Given the description of an element on the screen output the (x, y) to click on. 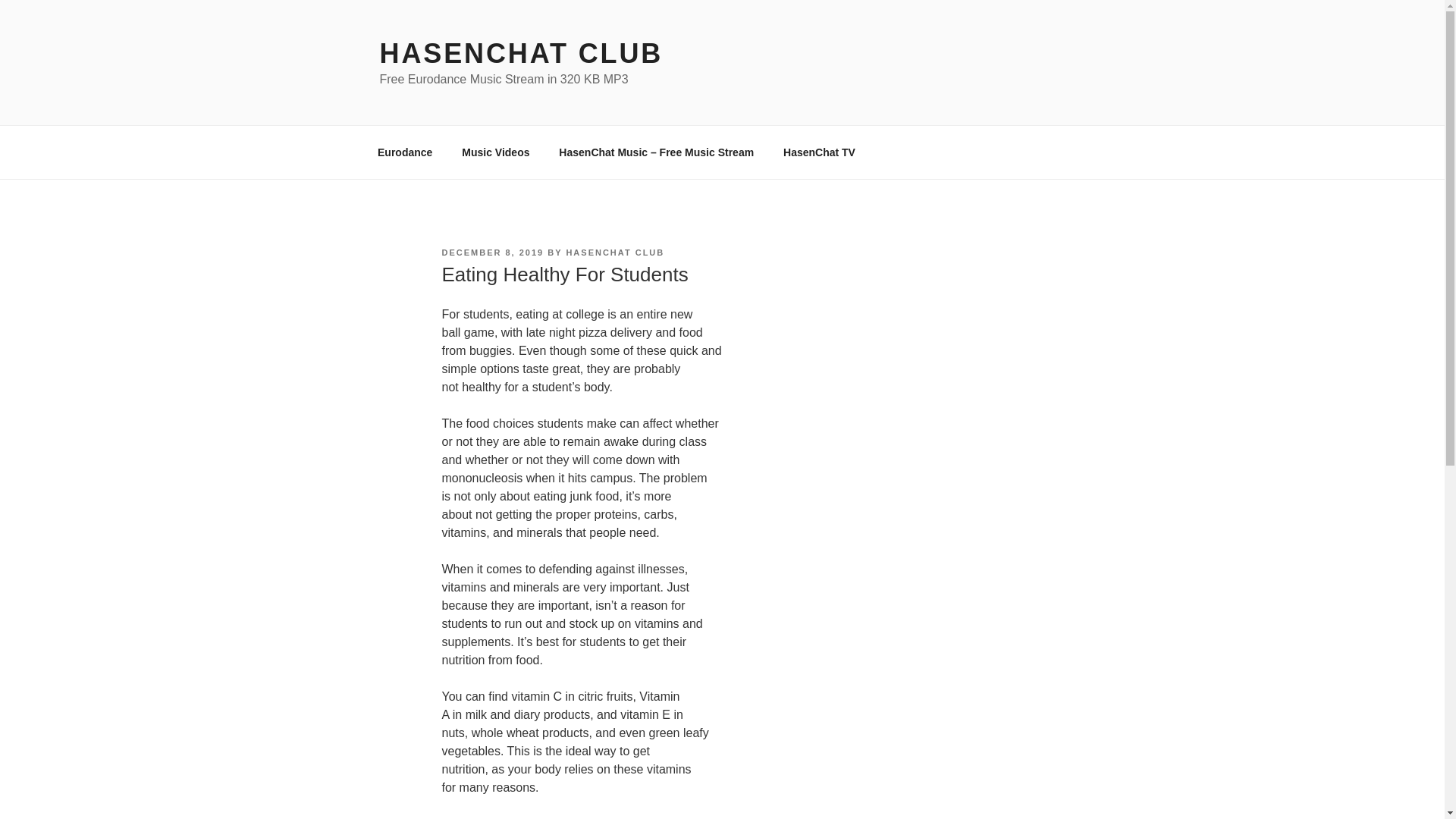
DECEMBER 8, 2019 (492, 252)
Eurodance (404, 151)
Music Videos (495, 151)
HASENCHAT CLUB (614, 252)
HASENCHAT CLUB (520, 52)
HasenChat TV (819, 151)
